Given the description of an element on the screen output the (x, y) to click on. 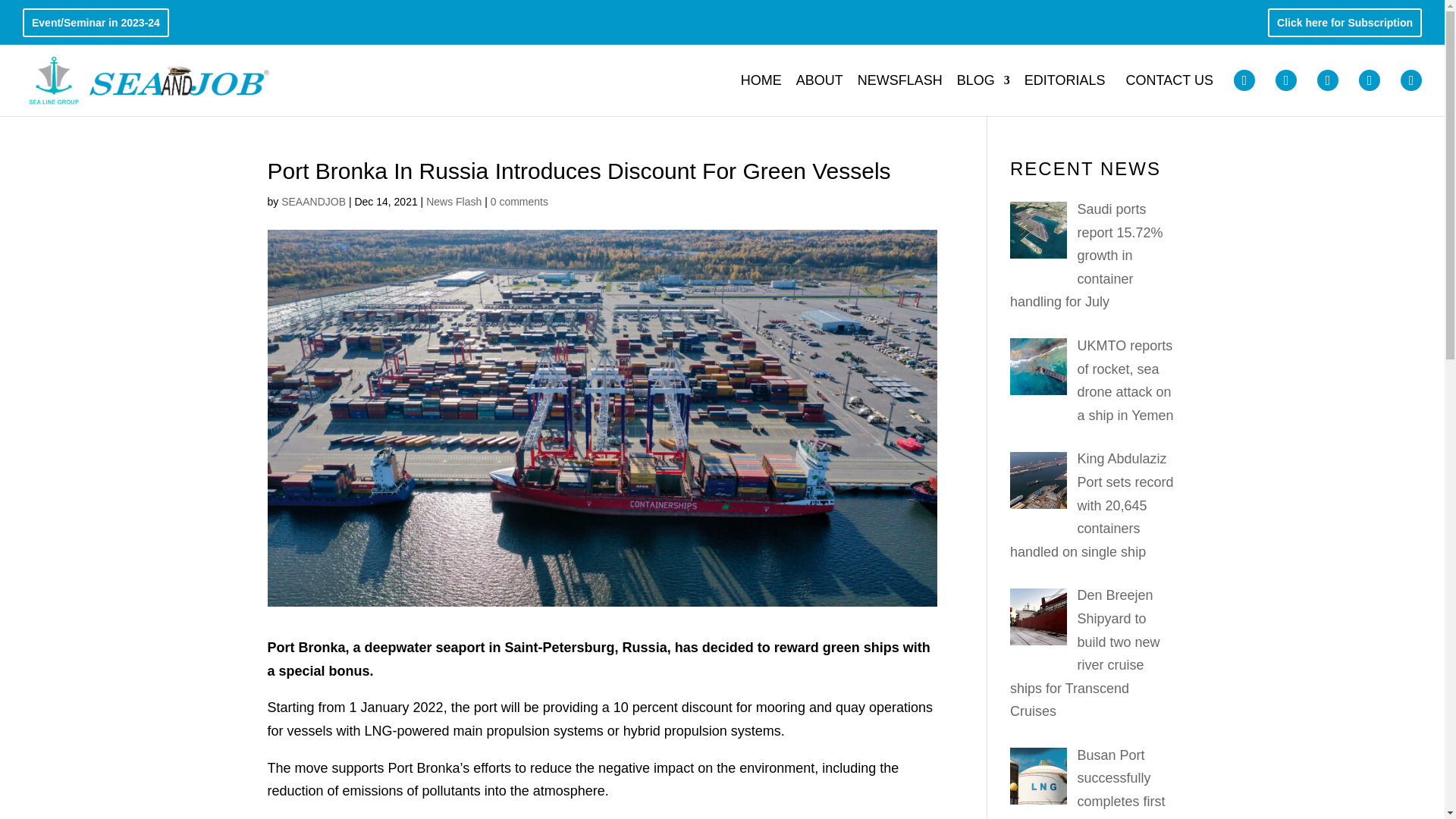
SEAANDJOB (313, 201)
News Flash (453, 201)
UKMTO reports of rocket, sea drone attack on a ship in Yemen (1125, 380)
CONTACT US (1168, 92)
HOME (761, 92)
ABOUT (819, 92)
Posts by SEAANDJOB (313, 201)
BLOG (983, 92)
Click here for Subscription (1344, 26)
0 comments (519, 201)
